Given the description of an element on the screen output the (x, y) to click on. 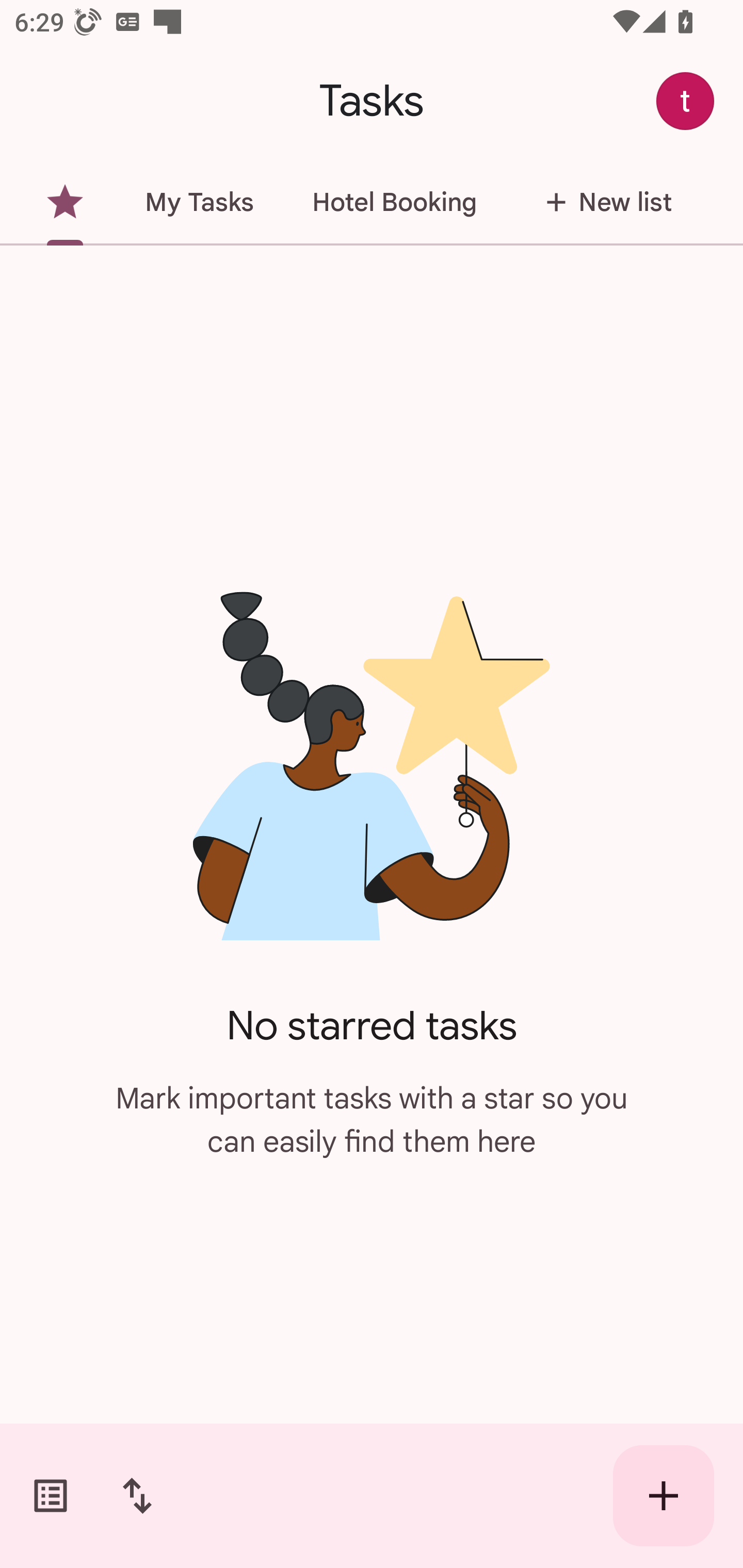
My Tasks (199, 202)
Hotel Booking (394, 202)
New list (602, 202)
Switch task lists (50, 1495)
Create new task (663, 1495)
Change sort order (136, 1495)
